Given the description of an element on the screen output the (x, y) to click on. 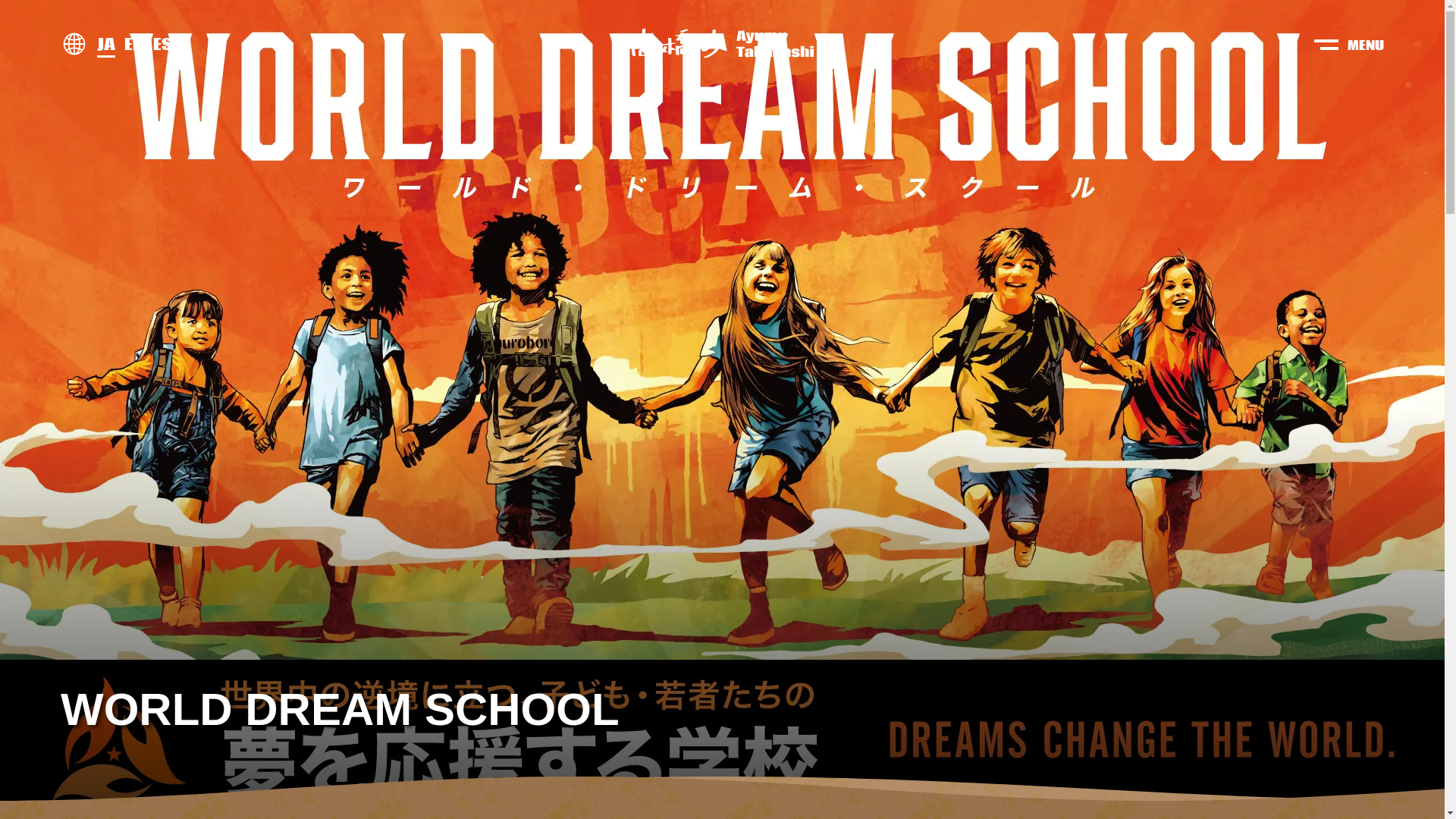
EN Element type: text (134, 44)
JA Element type: text (106, 44)
ES Element type: text (162, 44)
